Given the description of an element on the screen output the (x, y) to click on. 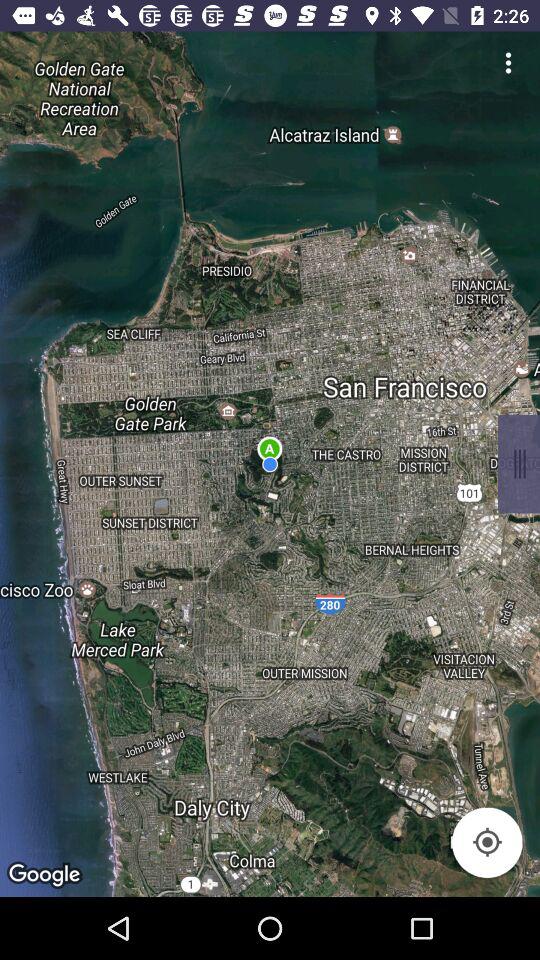
choose the item at the center (270, 463)
